Given the description of an element on the screen output the (x, y) to click on. 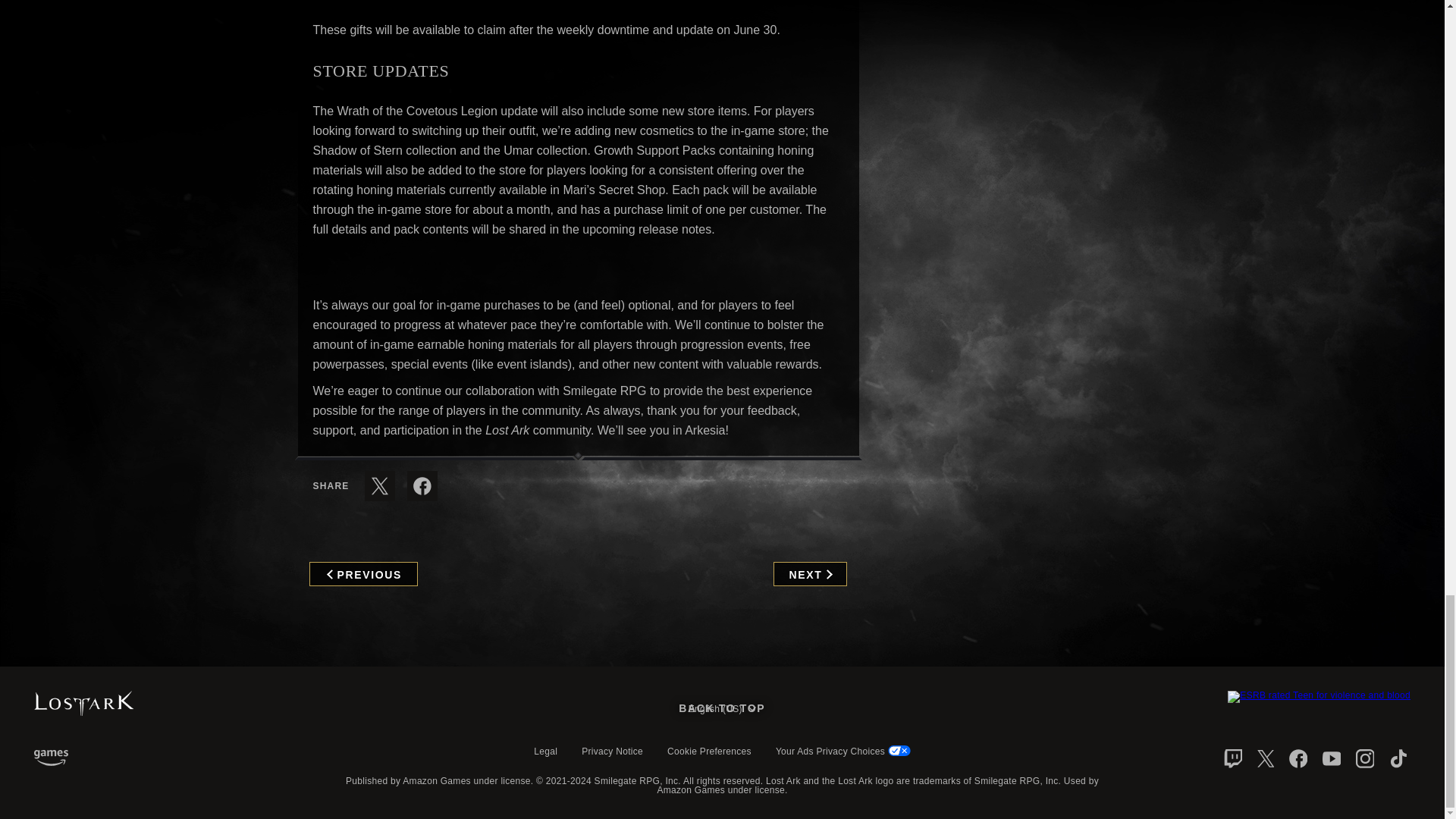
NEXT (810, 573)
PREVIOUS (362, 573)
